Given the description of an element on the screen output the (x, y) to click on. 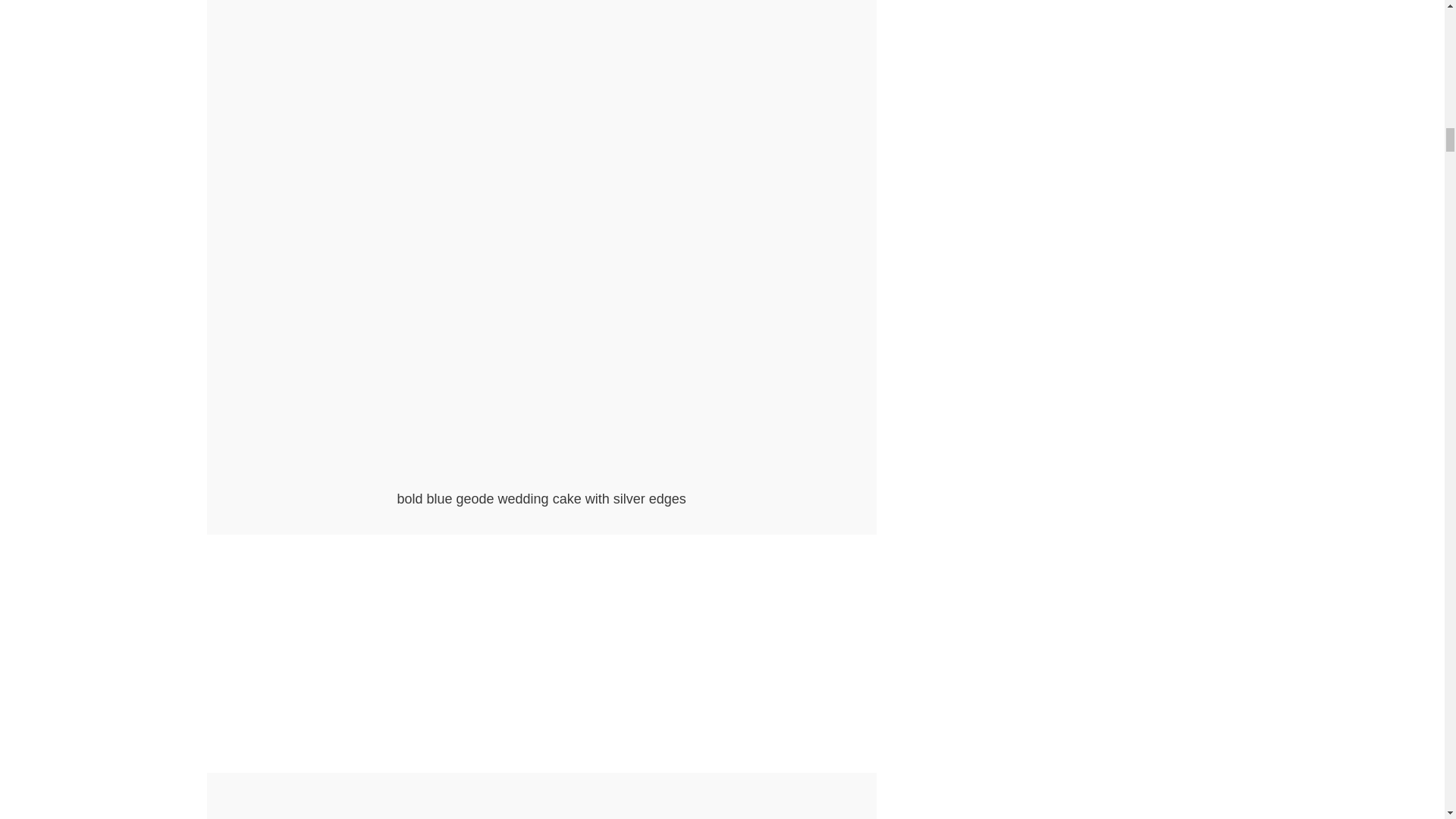
bold blue geode wedding cake with silver edges (541, 479)
